Given the description of an element on the screen output the (x, y) to click on. 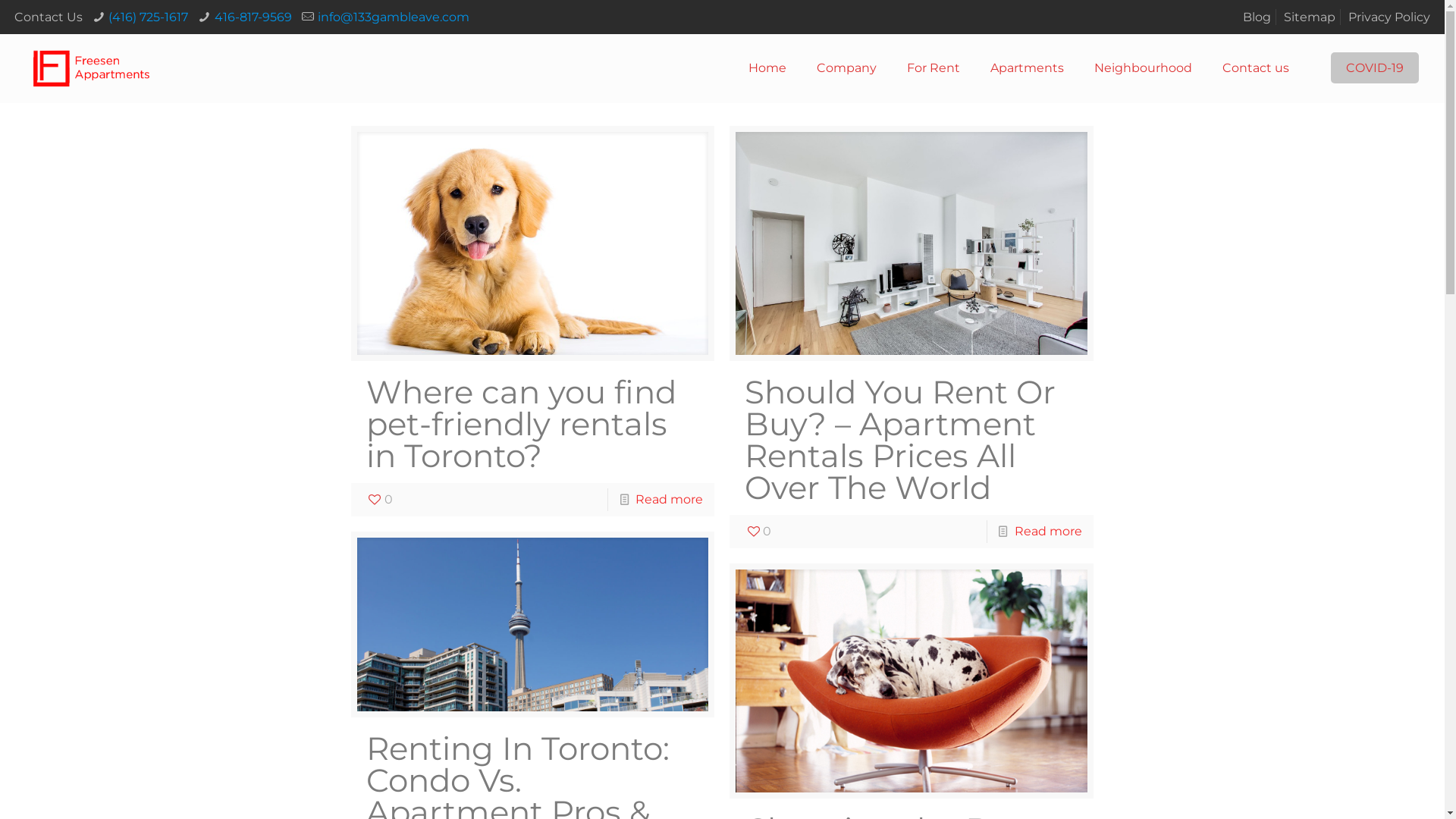
Contact us Element type: text (1255, 68)
info@133gambleave.com Element type: text (393, 16)
COVID-19 Element type: text (1374, 67)
Neighbourhood Element type: text (1143, 68)
(416) 725-1617 Element type: text (148, 16)
Read more Element type: text (668, 499)
Apartments Element type: text (1027, 68)
Sitemap Element type: text (1309, 16)
Where can you find pet-friendly rentals in Toronto? Element type: text (521, 423)
Home Element type: text (767, 68)
Read more Element type: text (1048, 531)
Privacy Policy Element type: text (1389, 16)
Welcome to Freesen Apartments Element type: hover (91, 68)
0 Element type: text (757, 531)
For Rent Element type: text (933, 68)
0 Element type: text (379, 499)
416-817-9569 Element type: text (252, 16)
Company Element type: text (846, 68)
Blog Element type: text (1256, 16)
